Given the description of an element on the screen output the (x, y) to click on. 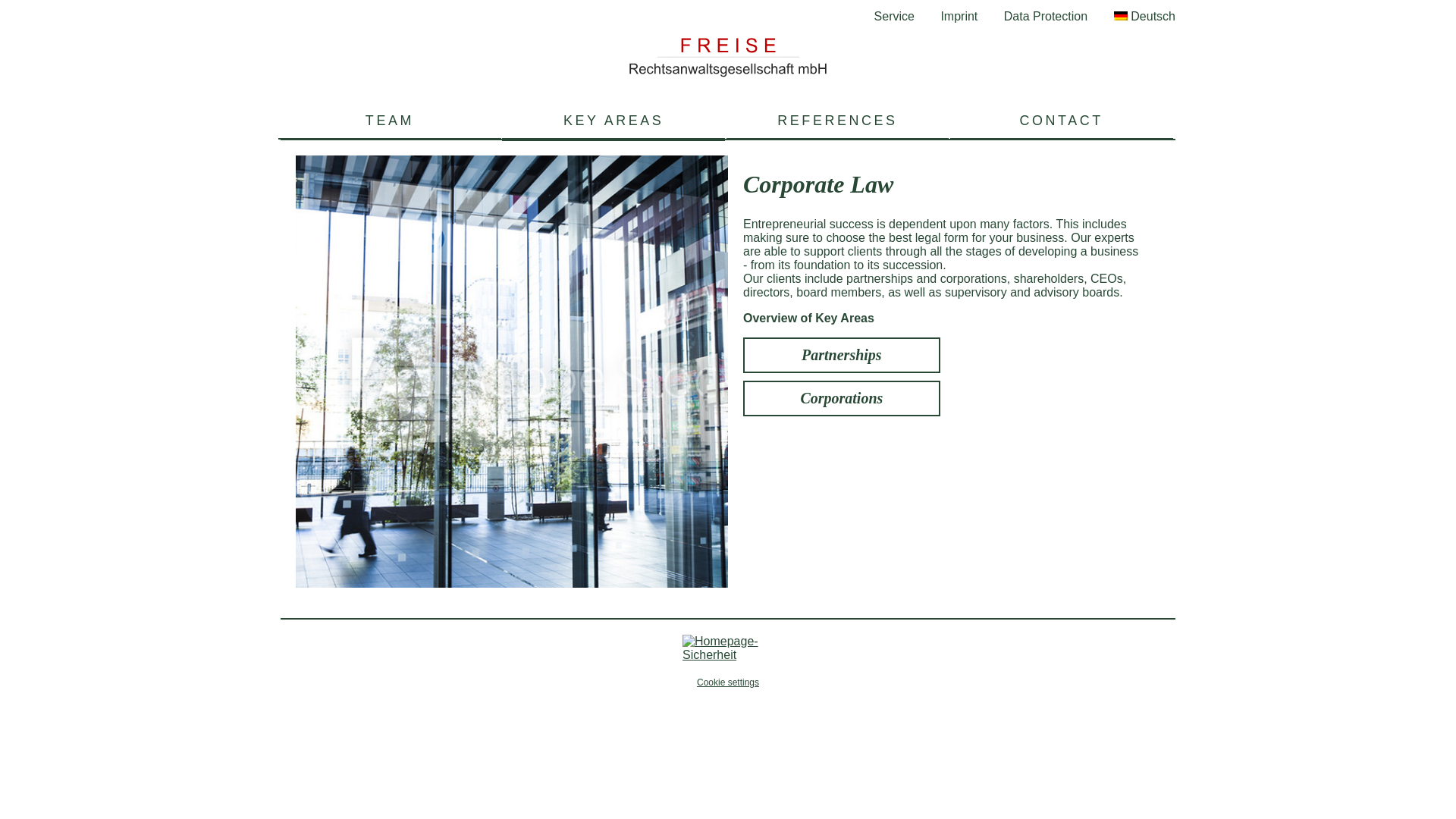
Data Protection (1045, 15)
REFERENCES (836, 122)
TEAM (389, 122)
CONTACT (1062, 122)
SiteLock (727, 647)
Imprint (958, 15)
Deutsch (1143, 15)
Corporations (841, 398)
Service (894, 15)
Deutsch (1143, 15)
Partnerships (841, 355)
Deutsch (1119, 15)
KEY AREAS (613, 122)
